Given the description of an element on the screen output the (x, y) to click on. 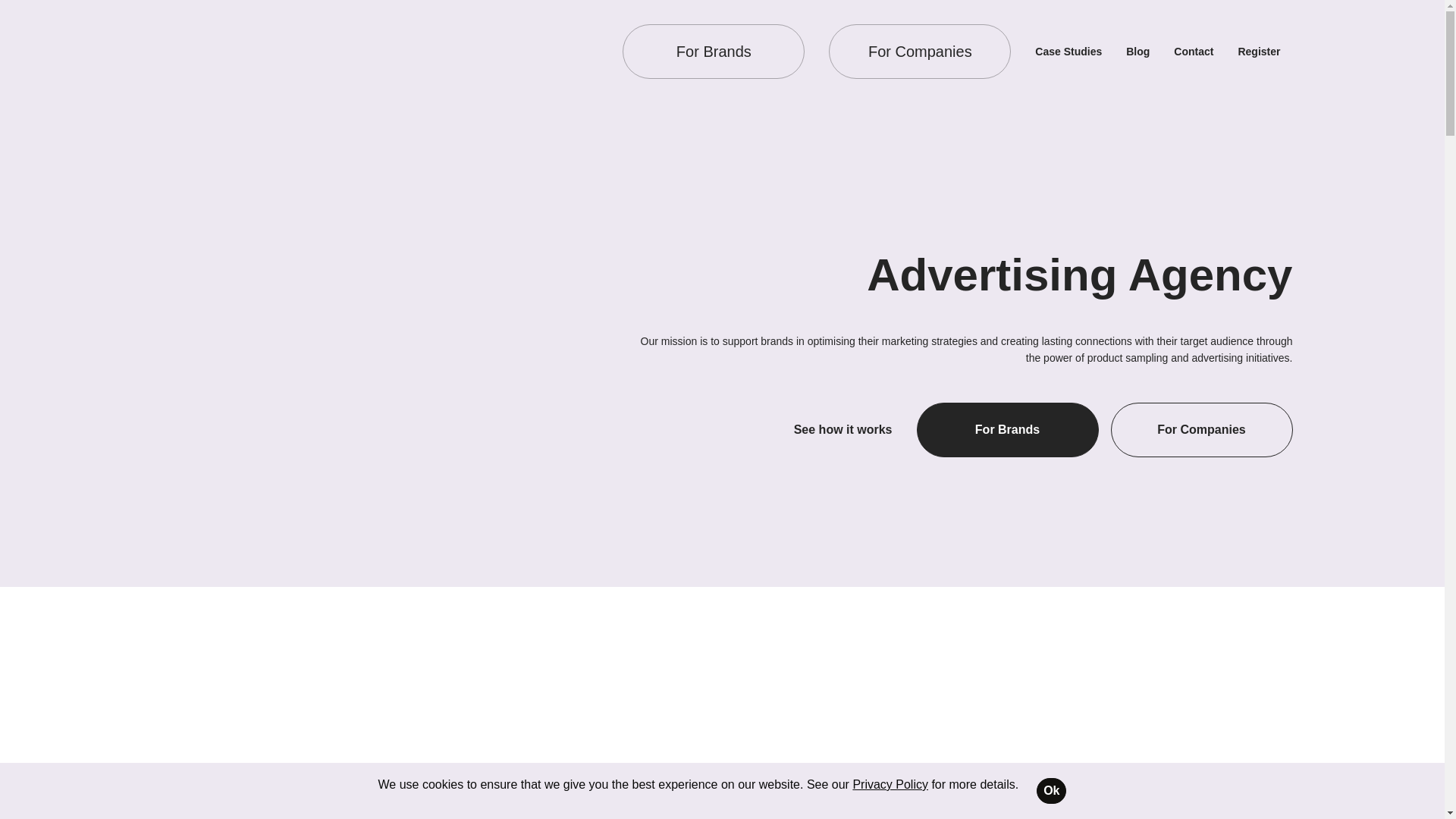
Blog (1137, 51)
For Companies (919, 51)
For Companies (1200, 429)
Contact (1192, 51)
Register (1258, 51)
For Brands (1006, 429)
Case Studies (1068, 51)
For Brands (714, 51)
